Given the description of an element on the screen output the (x, y) to click on. 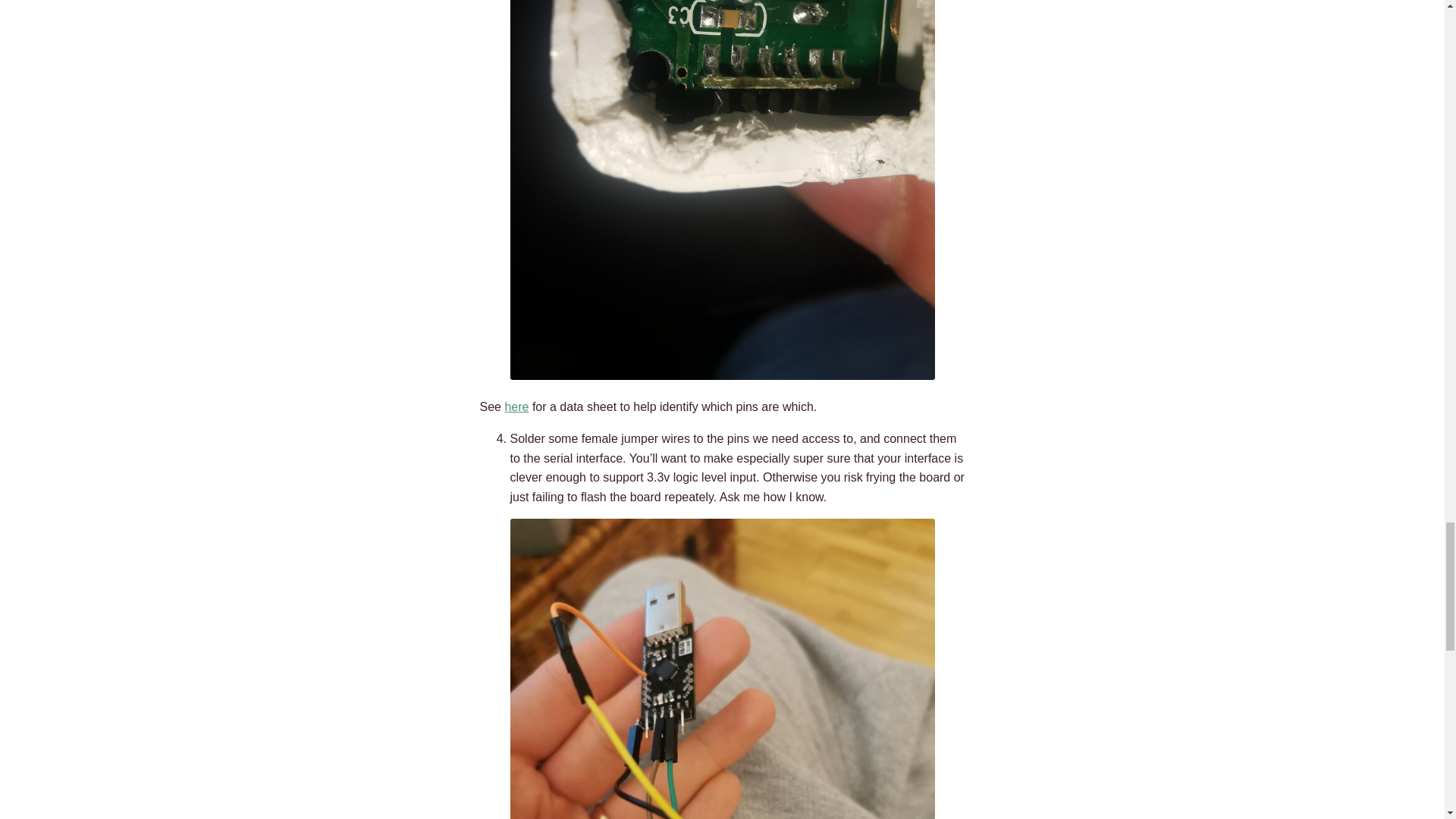
here (515, 406)
plug-serial (721, 668)
